Given the description of an element on the screen output the (x, y) to click on. 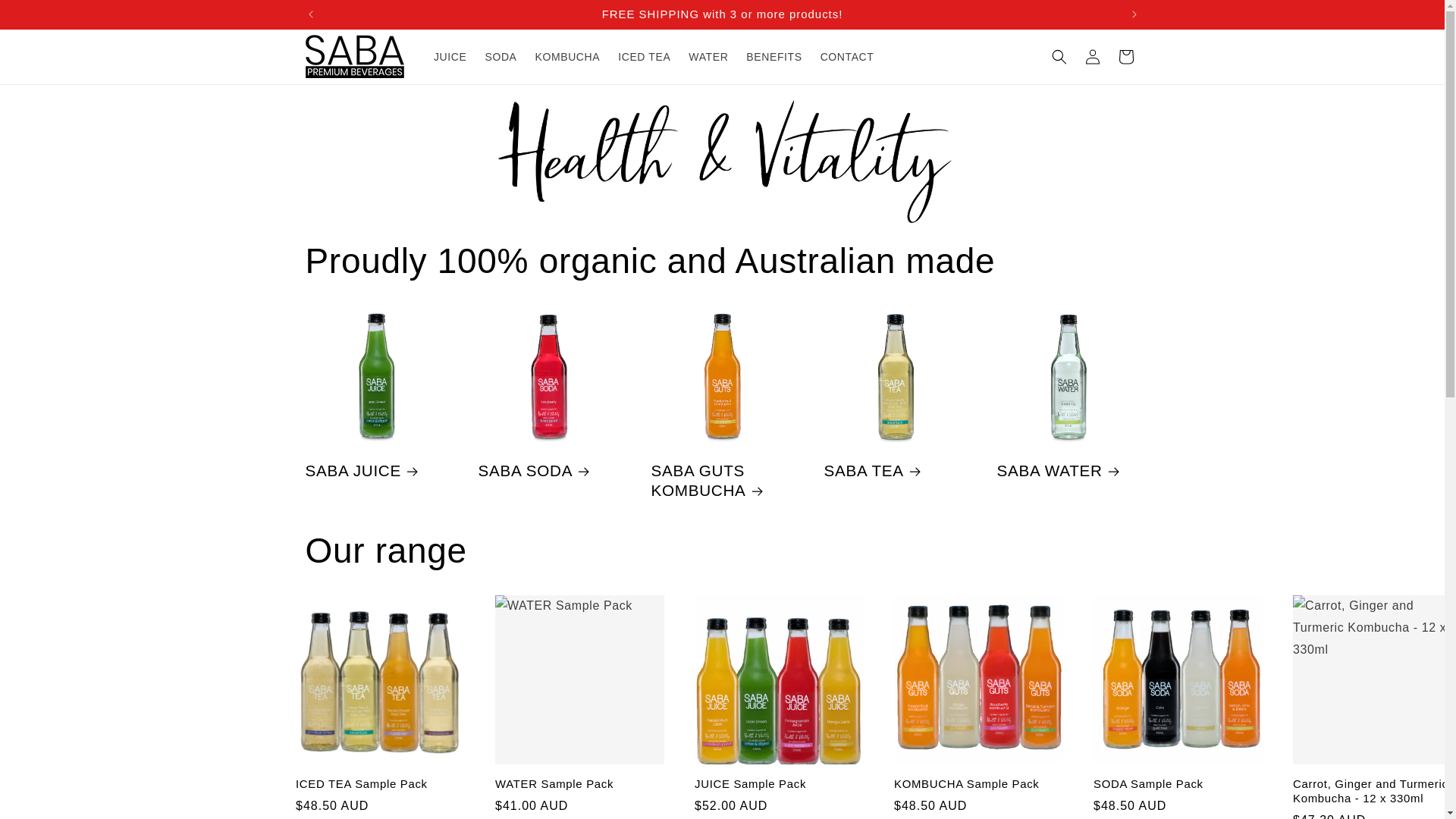
SABA JUICE (375, 470)
BENEFITS (773, 56)
KOMBUCHA (567, 56)
Cart (1124, 56)
ICED TEA (643, 56)
Log in (1091, 56)
CONTACT (846, 56)
SABA TEA (895, 470)
WATER (707, 56)
Skip to content (45, 17)
